Given the description of an element on the screen output the (x, y) to click on. 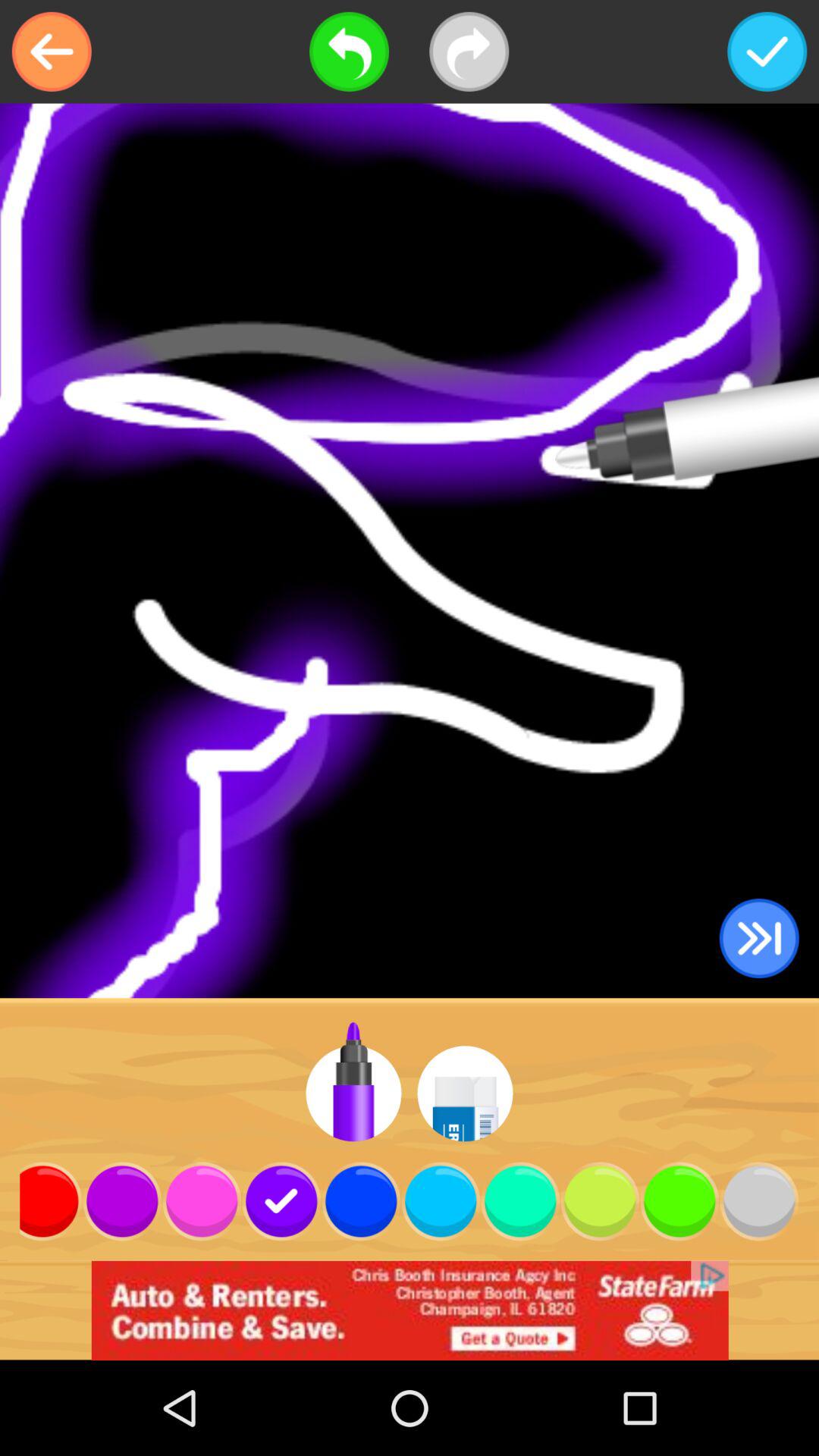
redo (469, 51)
